Given the description of an element on the screen output the (x, y) to click on. 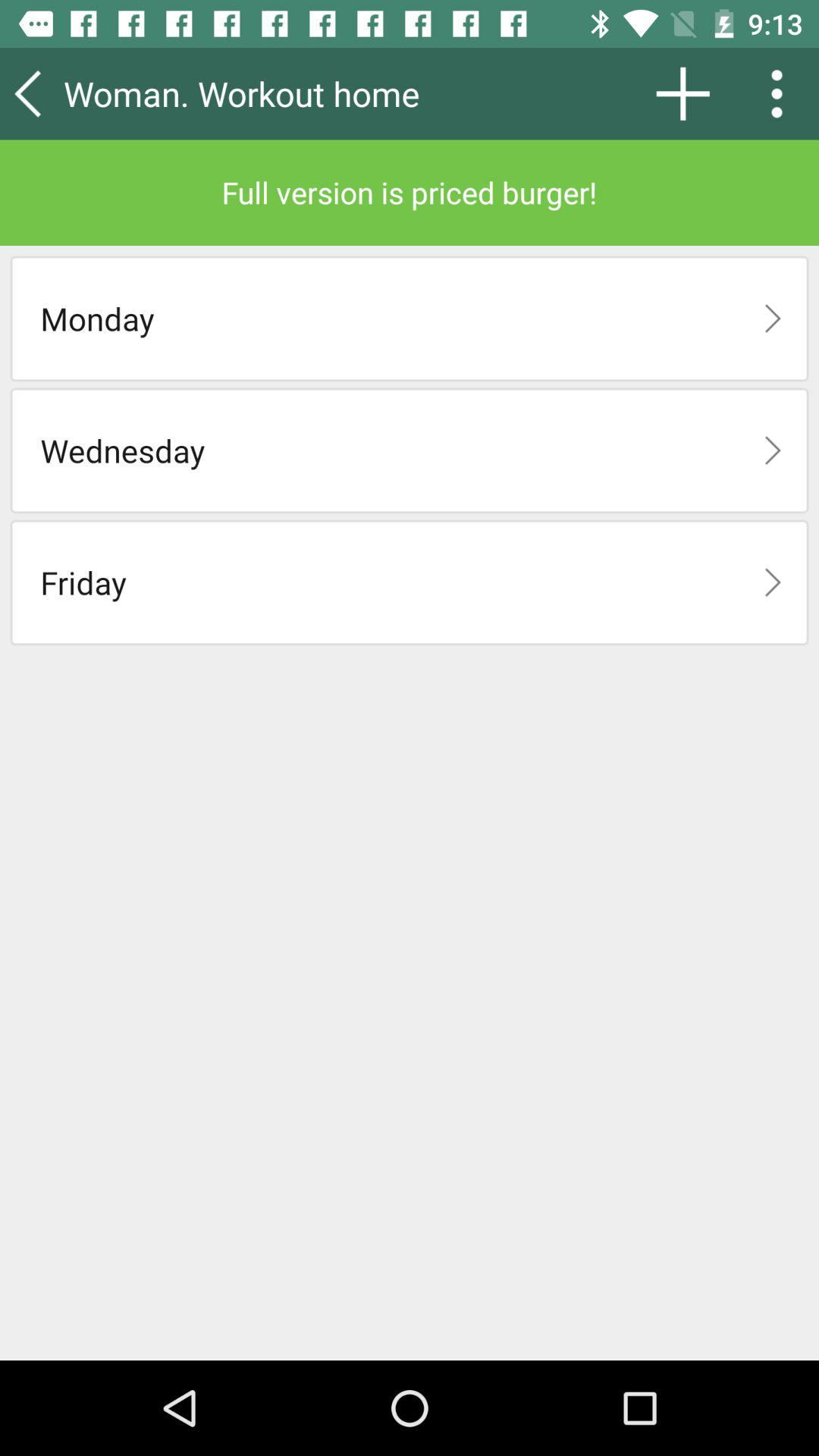
press item next to the woman. workout home item (682, 93)
